Given the description of an element on the screen output the (x, y) to click on. 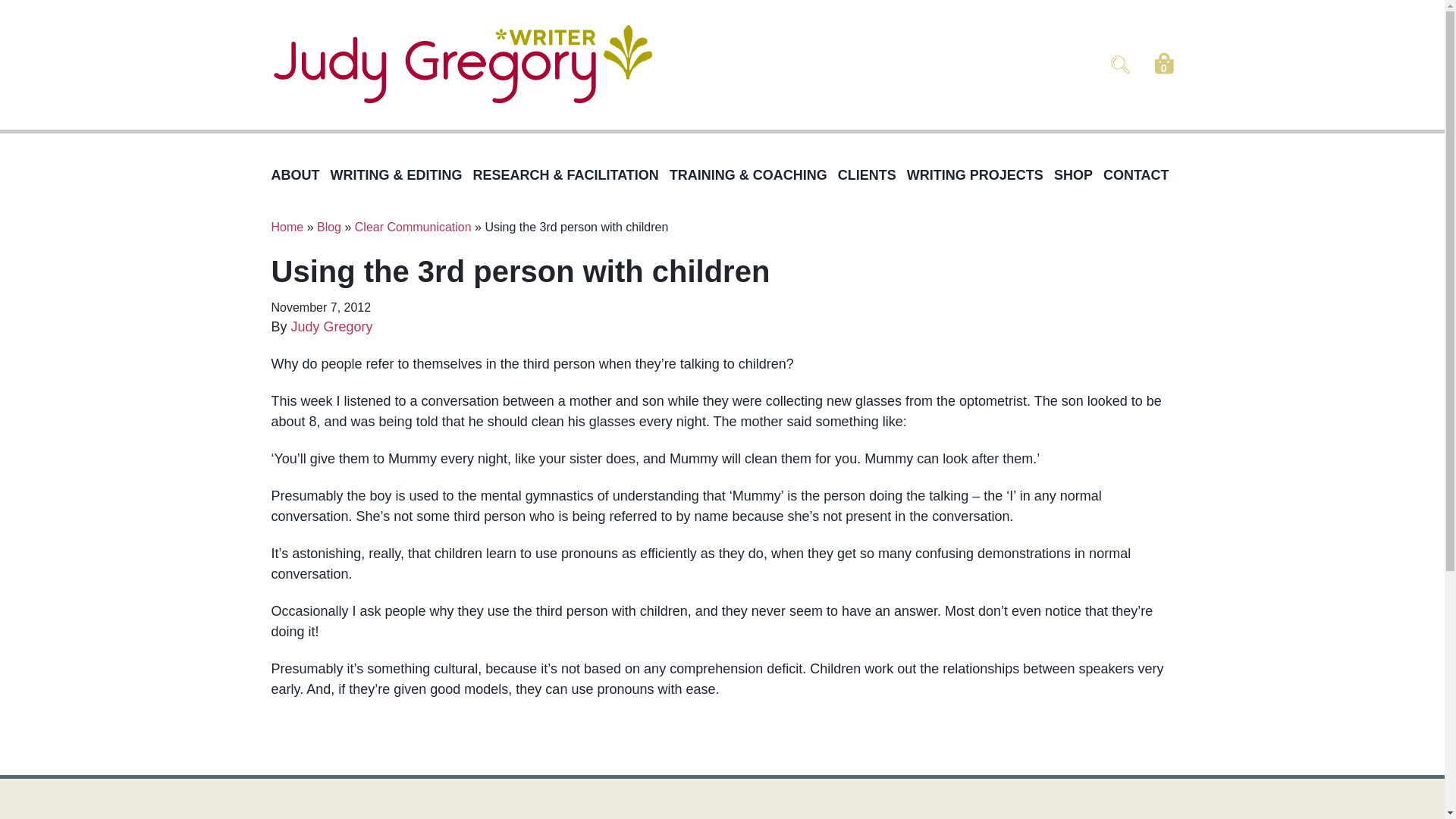
CLIENTS Element type: text (871, 175)
Home Element type: text (287, 226)
RESEARCH & FACILITATION Element type: text (571, 175)
Blog Element type: text (328, 226)
ABOUT Element type: text (300, 175)
WRITING PROJECTS Element type: text (980, 175)
CONTACT Element type: text (1141, 175)
Judy Gregory Element type: text (332, 326)
WRITING & EDITING Element type: text (401, 175)
SHOP Element type: text (1078, 175)
Clear Communication Element type: text (412, 226)
TRAINING & COACHING Element type: text (753, 175)
0 Element type: text (1163, 66)
